Given the description of an element on the screen output the (x, y) to click on. 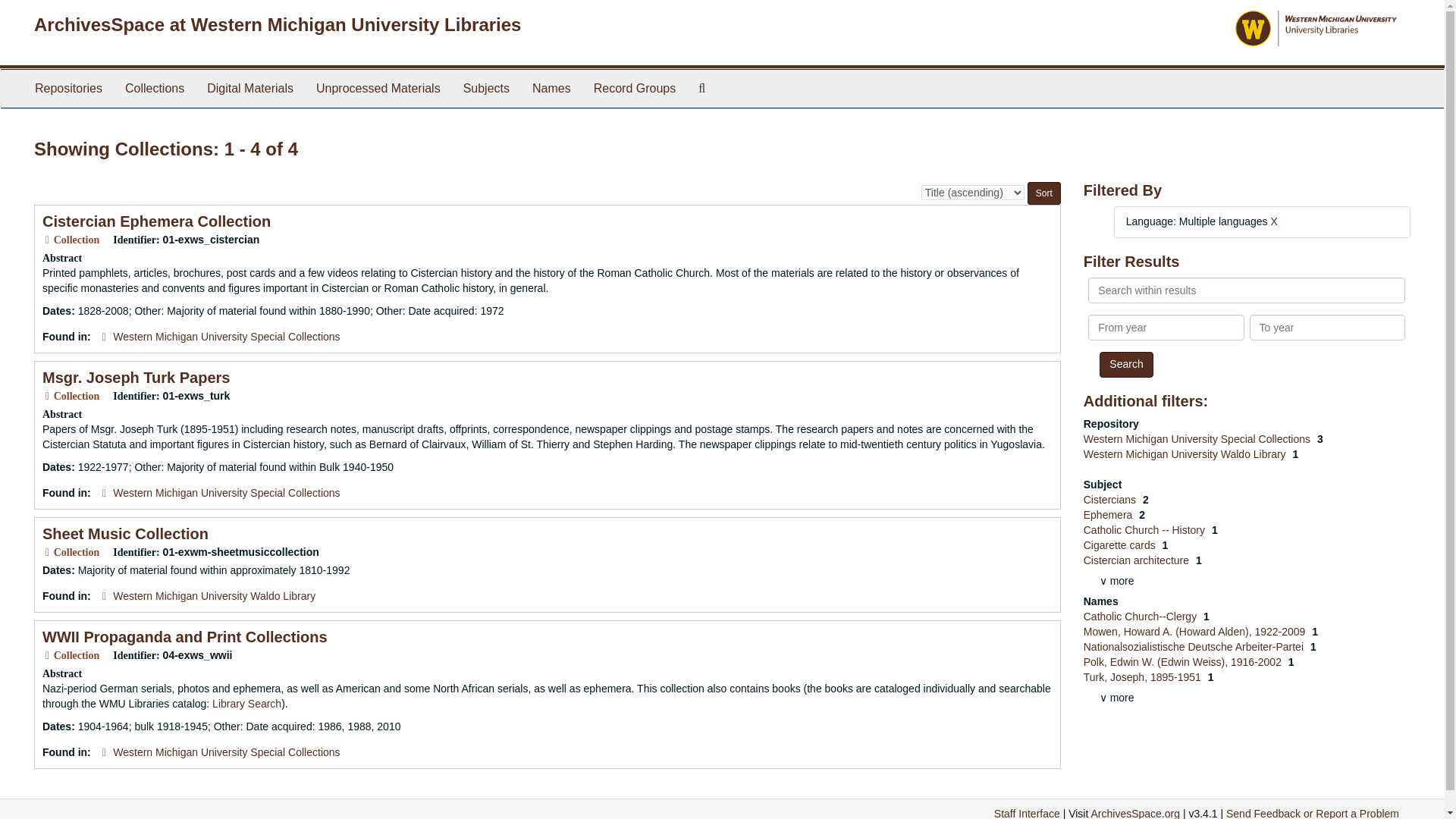
Filter By 'Cigarette cards' (1120, 544)
Filter By 'Catholic Church -- History' (1145, 530)
Record Groups (634, 88)
Sort (1044, 192)
Repositories (68, 88)
Search (1126, 364)
Search (1126, 364)
Msgr. Joseph Turk Papers (136, 377)
Filter By 'Western Michigan University Waldo Library' (1185, 453)
Sort (1044, 192)
